Given the description of an element on the screen output the (x, y) to click on. 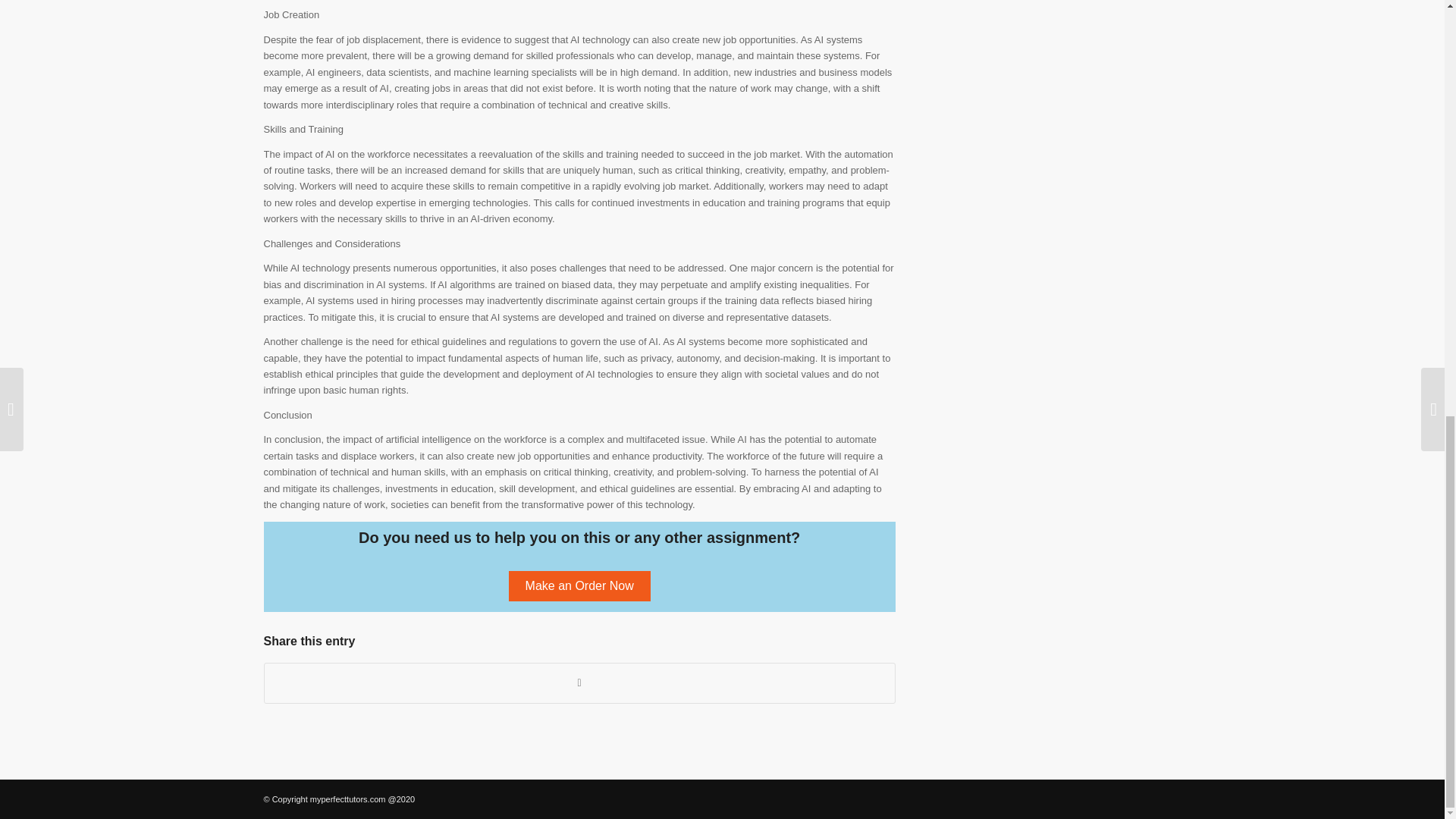
Make an Order Now (579, 585)
